Given the description of an element on the screen output the (x, y) to click on. 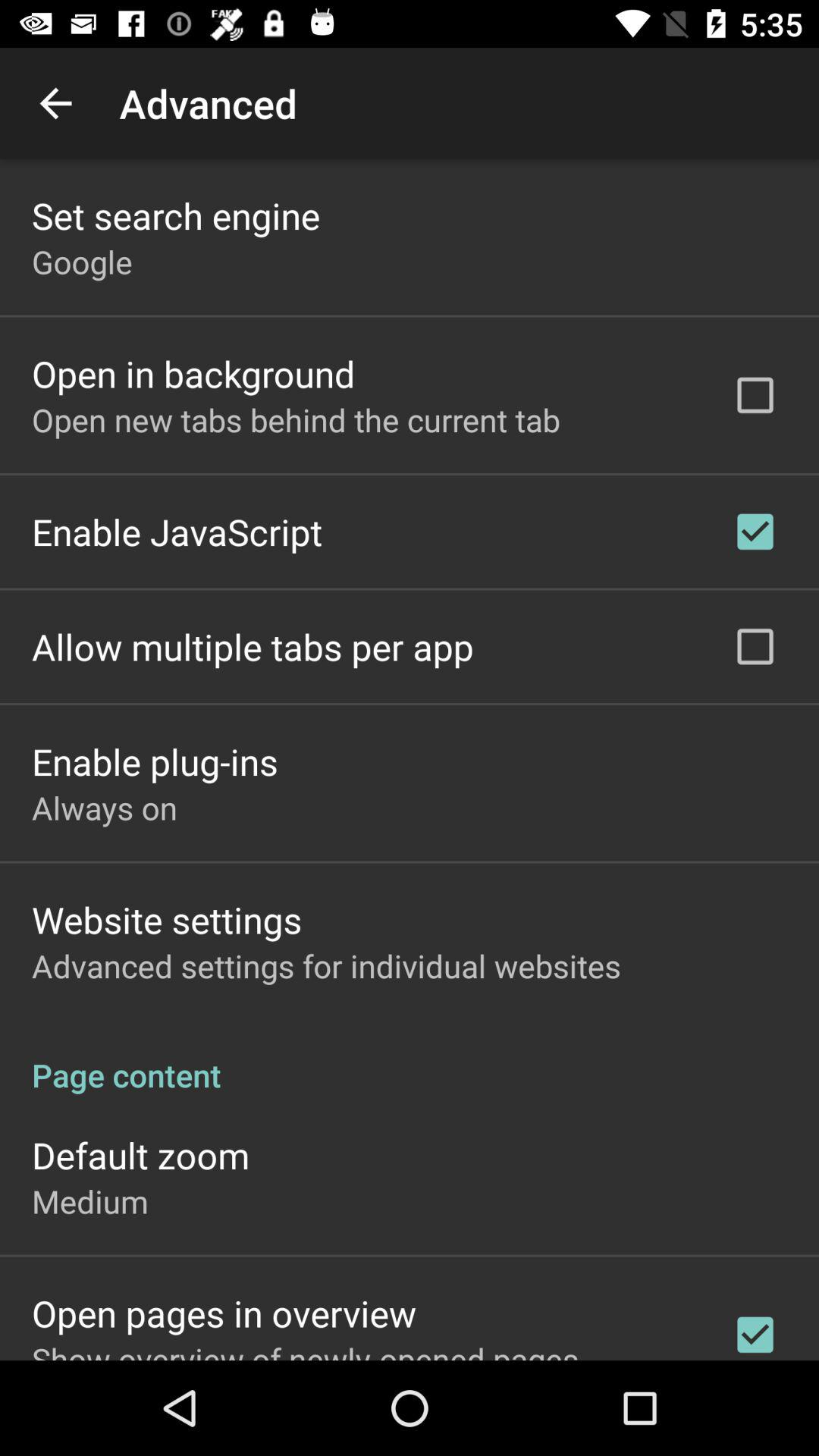
launch show overview of item (304, 1348)
